Given the description of an element on the screen output the (x, y) to click on. 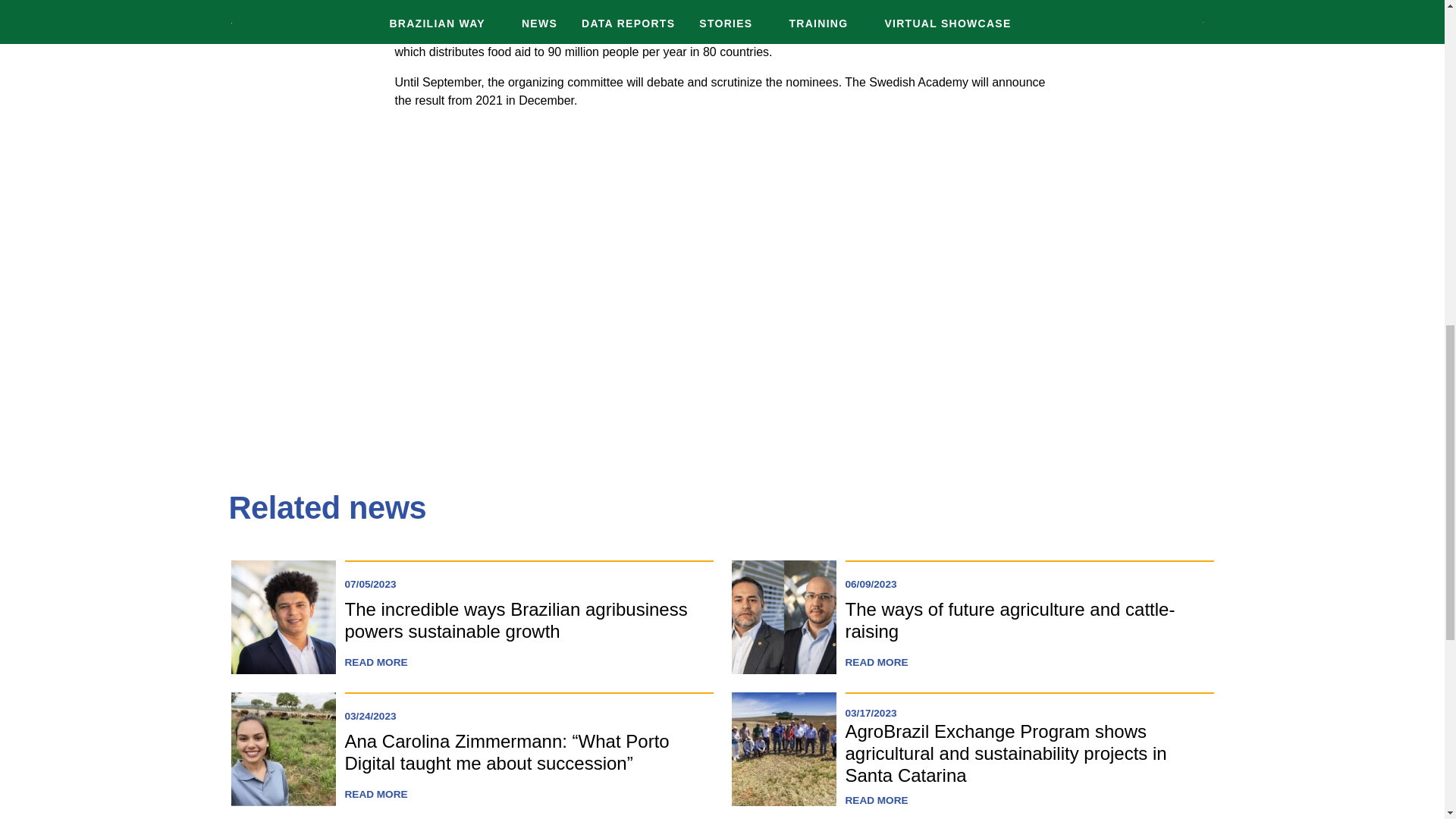
READ MORE (375, 662)
Science supremacy (583, 258)
READ MORE (875, 662)
READ MORE (375, 794)
The ways of future agriculture and cattle-raising (1009, 619)
READ MORE (875, 800)
